Given the description of an element on the screen output the (x, y) to click on. 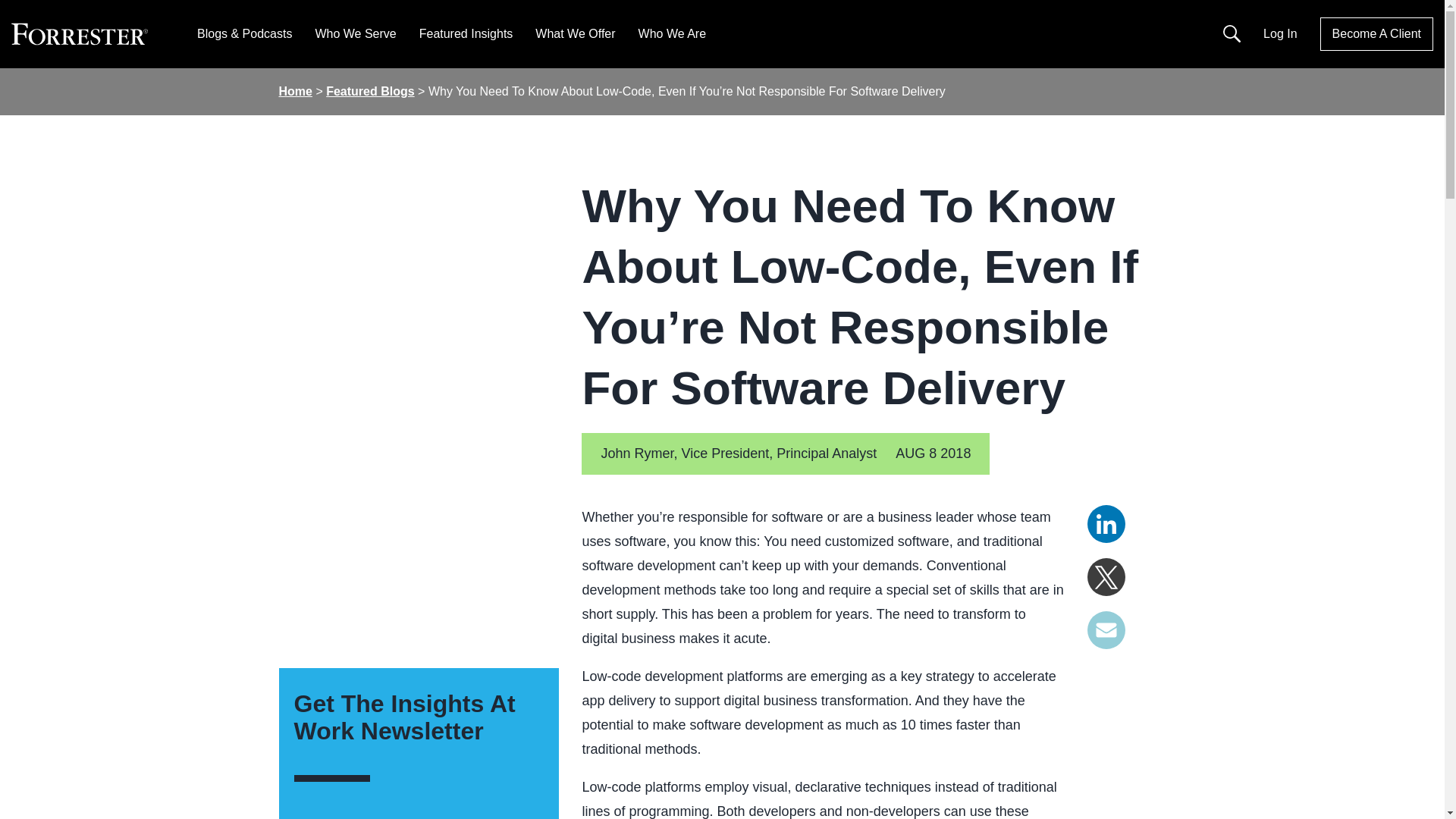
Who We Serve (355, 33)
Featured Insights (466, 33)
What We Offer (574, 33)
